Given the description of an element on the screen output the (x, y) to click on. 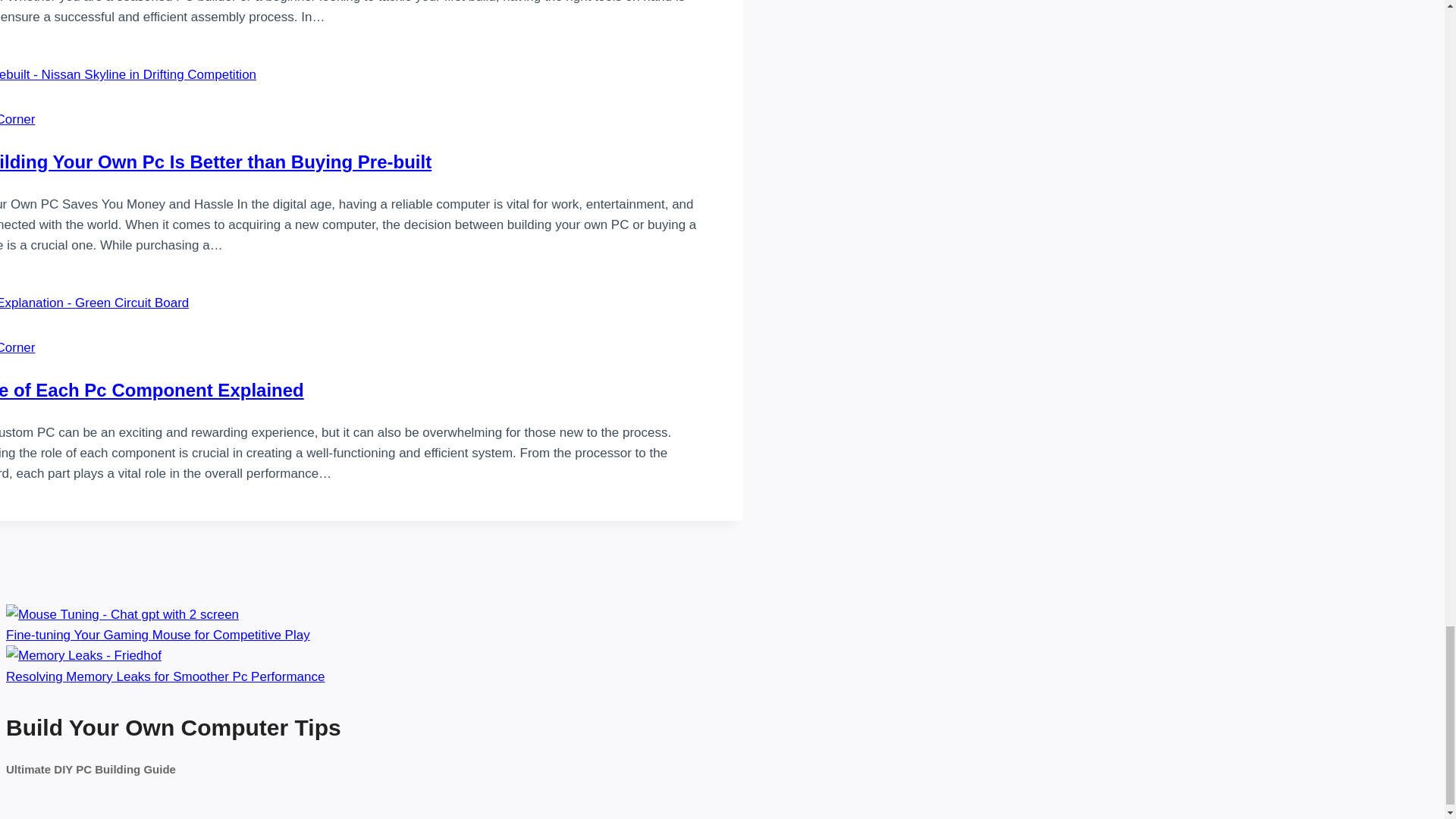
Why Building Your Own Pc Is Better than Buying Pre-built (215, 161)
Beginner's Corner (17, 347)
Fine-tuning Your Gaming Mouse for Competitive Play (121, 614)
Resolving Memory Leaks for Smoother Pc Performance (83, 655)
Fine-tuning Your Gaming Mouse for Competitive Play (157, 635)
Beginner's Corner (17, 119)
The Role of Each Pc Component Explained (152, 389)
